Given the description of an element on the screen output the (x, y) to click on. 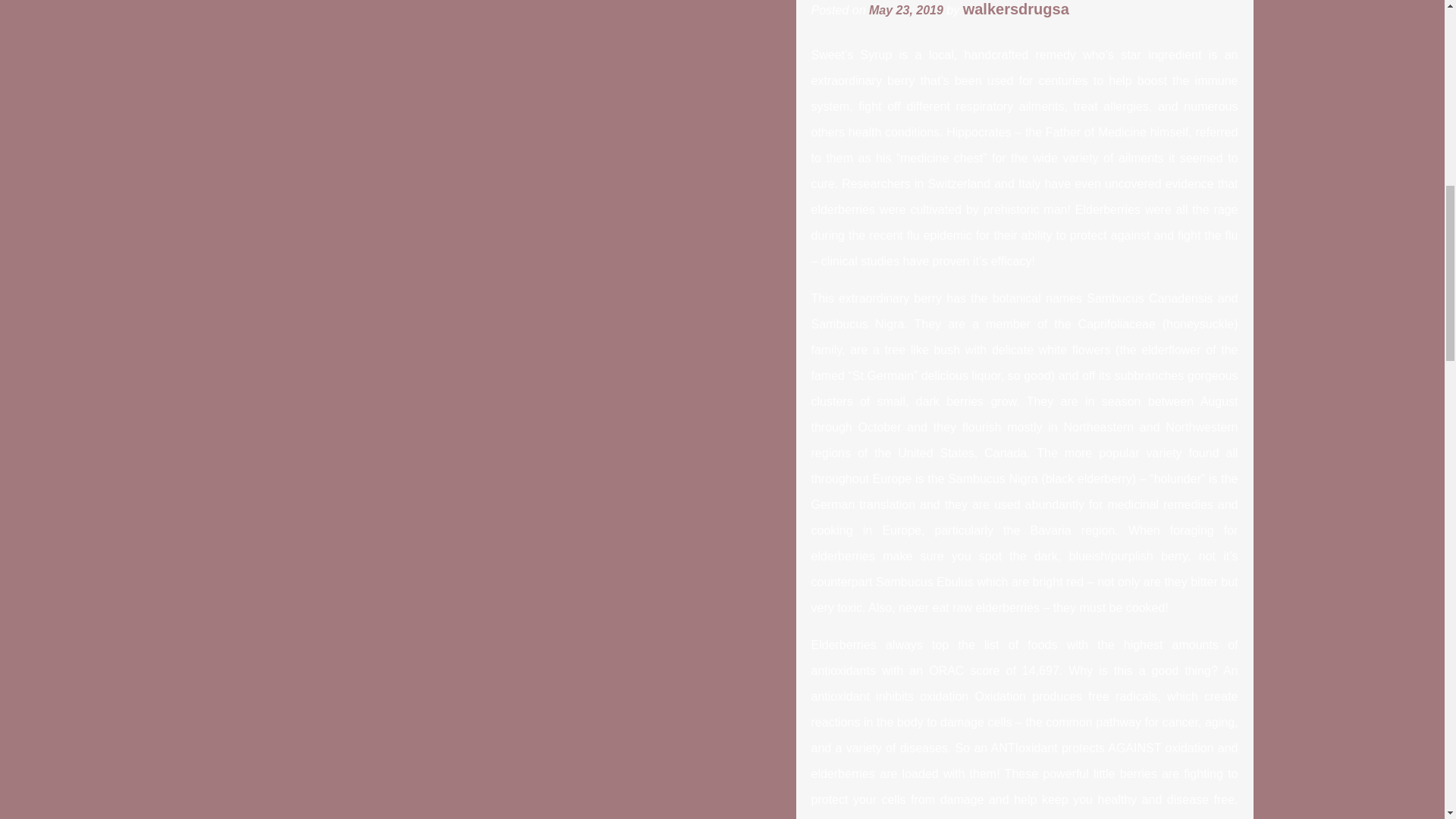
walkersdrugsa (1015, 8)
10:52 am (906, 10)
View all posts by walkersdrugsa (1015, 8)
May 23, 2019 (906, 10)
